Given the description of an element on the screen output the (x, y) to click on. 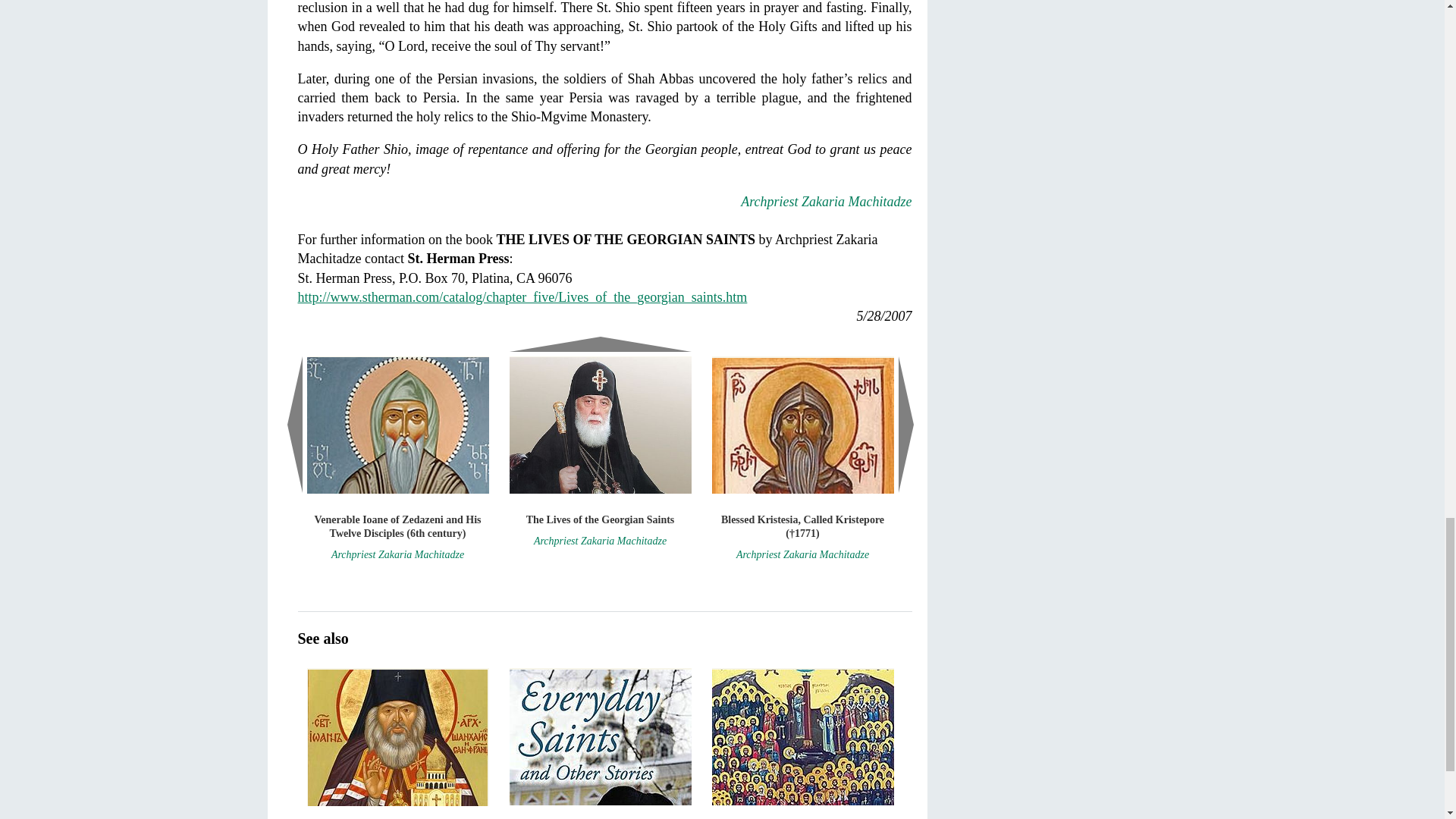
Archpriest Zakaria Machitadze (826, 201)
